Given the description of an element on the screen output the (x, y) to click on. 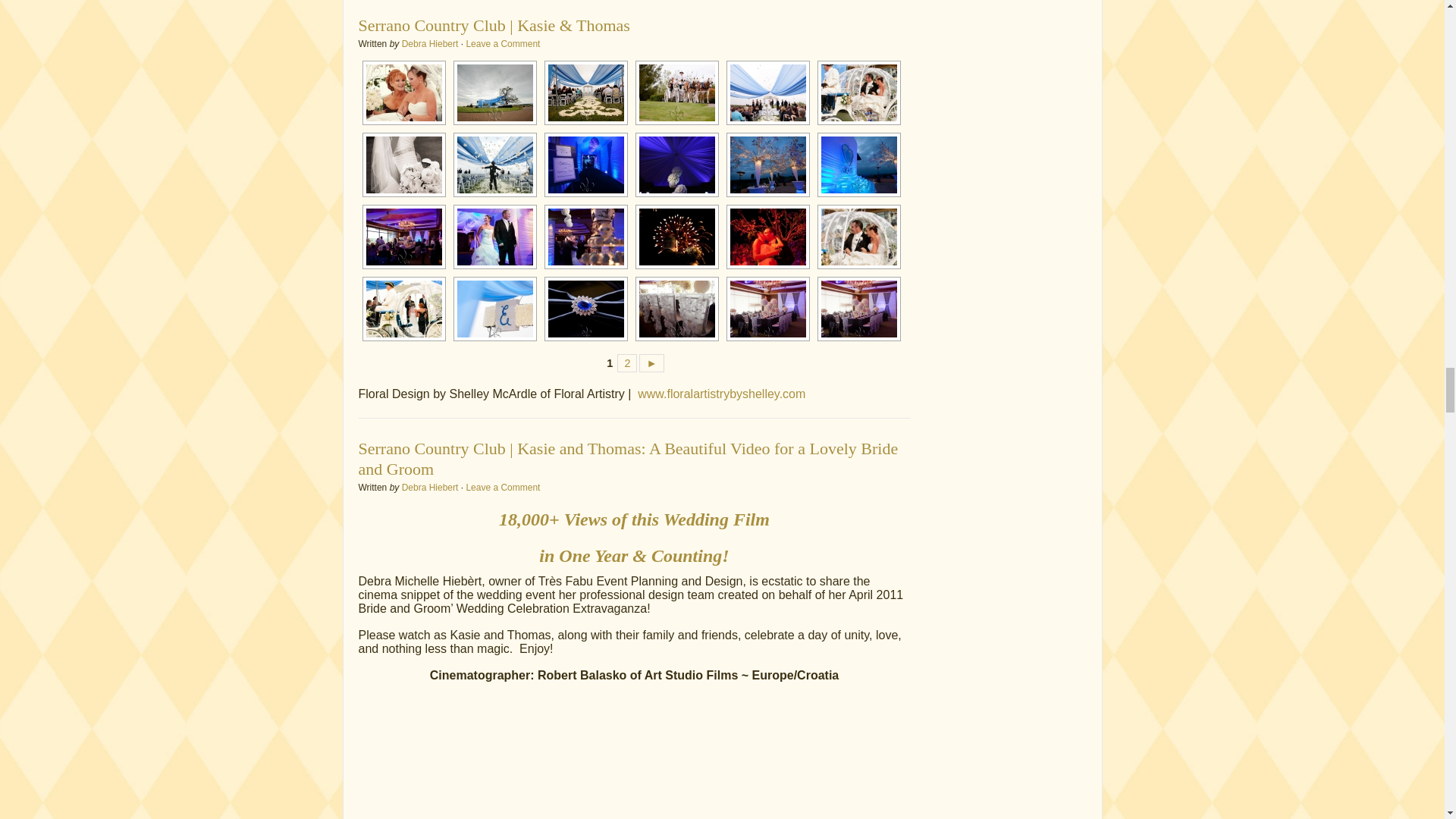
Debra Hiebert (429, 43)
175 (403, 92)
Leave a Comment (502, 43)
178 (494, 92)
185 (585, 92)
